Given the description of an element on the screen output the (x, y) to click on. 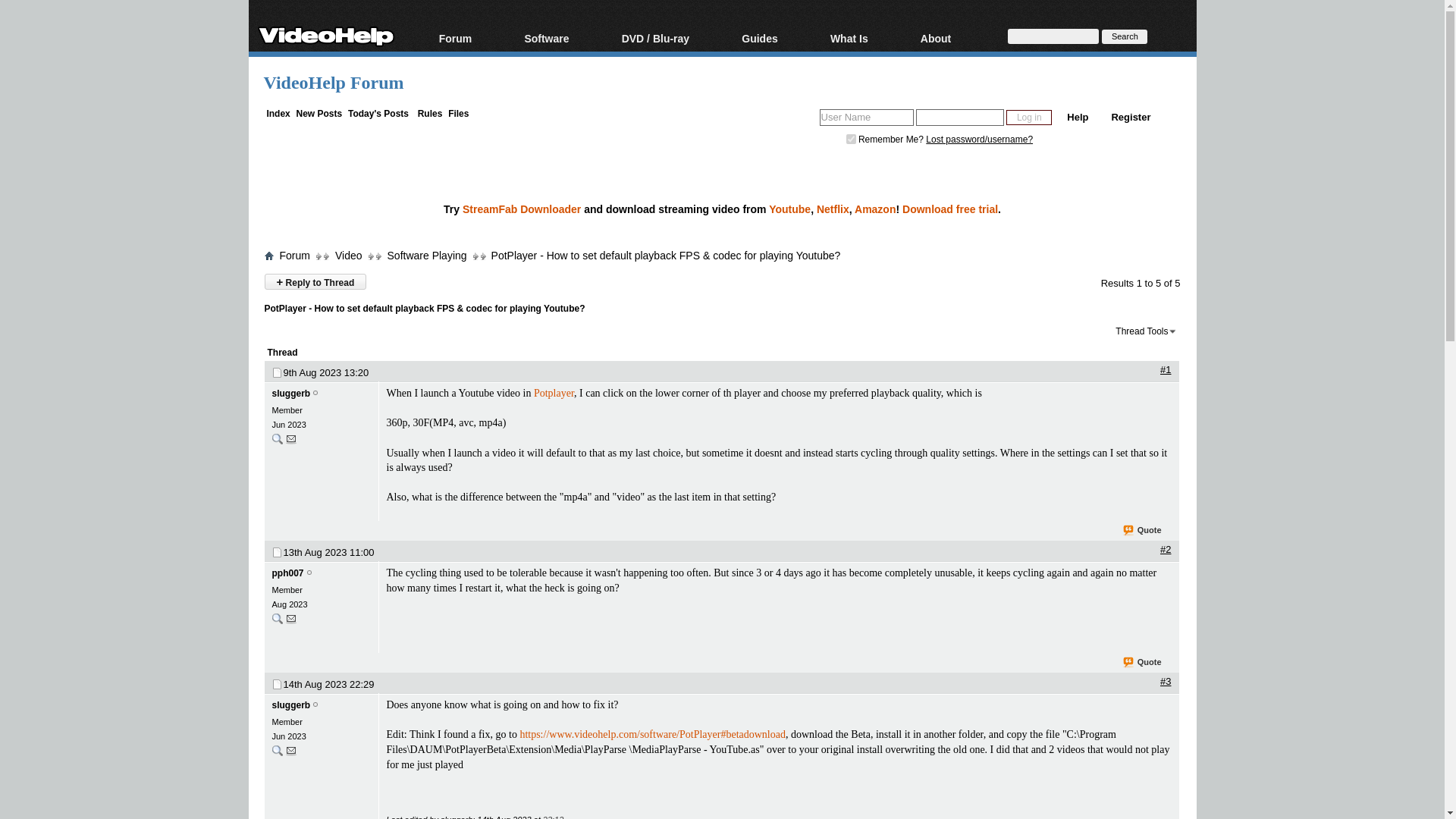
Search (1124, 35)
VideoHelp Forum (333, 82)
New Posts (319, 113)
Users posts: 2 (276, 622)
Files (458, 113)
Index (277, 113)
Log in (1028, 117)
sluggerb is offline (314, 704)
Send PM (291, 622)
About (953, 40)
Users posts: 2 (276, 618)
Today's Posts (378, 113)
pph007 is offline (286, 573)
Software (564, 40)
